Given the description of an element on the screen output the (x, y) to click on. 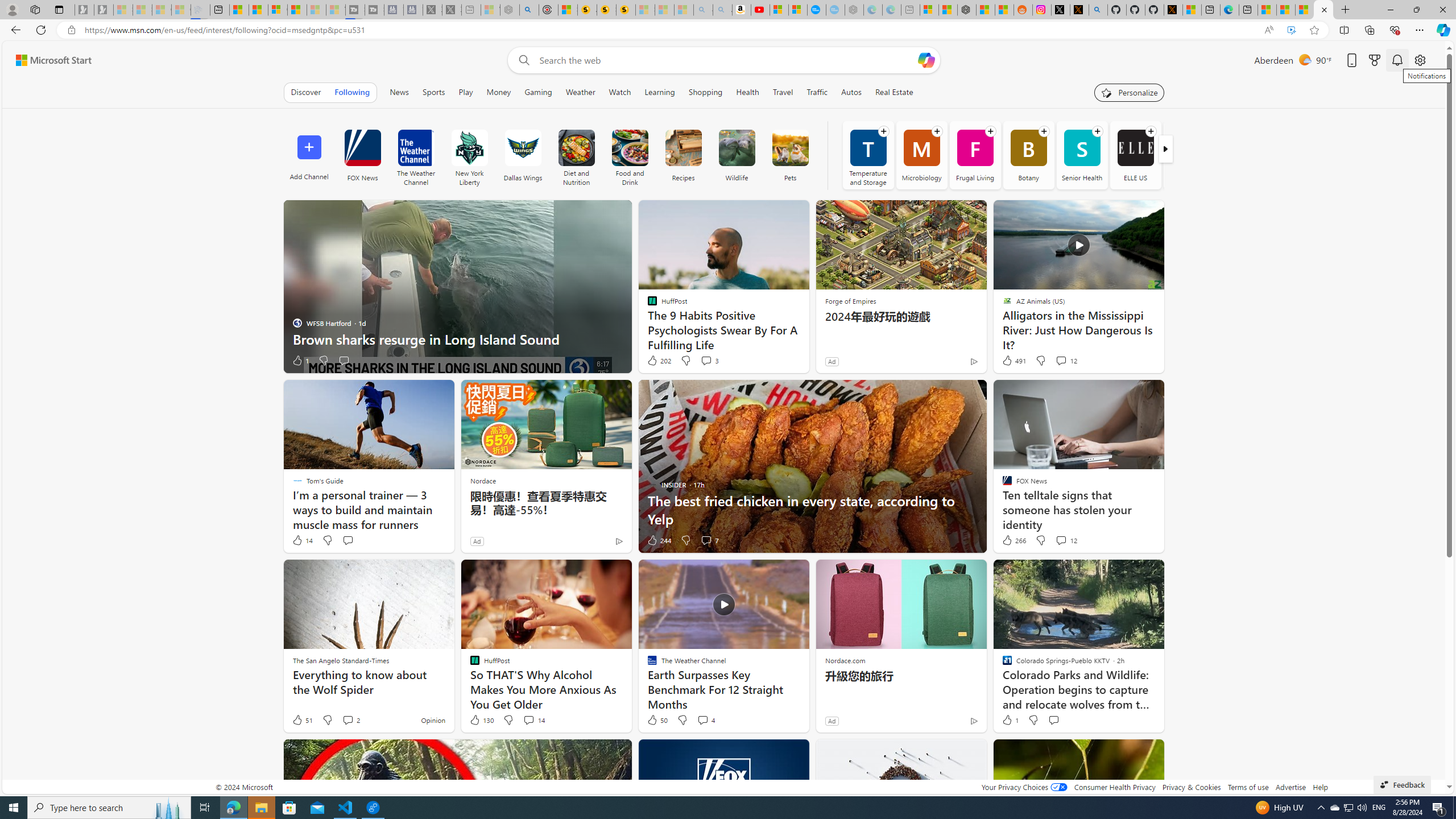
Wildlife (736, 147)
Frugal Living (975, 155)
266 Like (1012, 539)
Shopping (705, 92)
Nordace - Nordace has arrived Hong Kong - Sleeping (853, 9)
FOX News (362, 155)
Add Channel (308, 155)
